Given the description of an element on the screen output the (x, y) to click on. 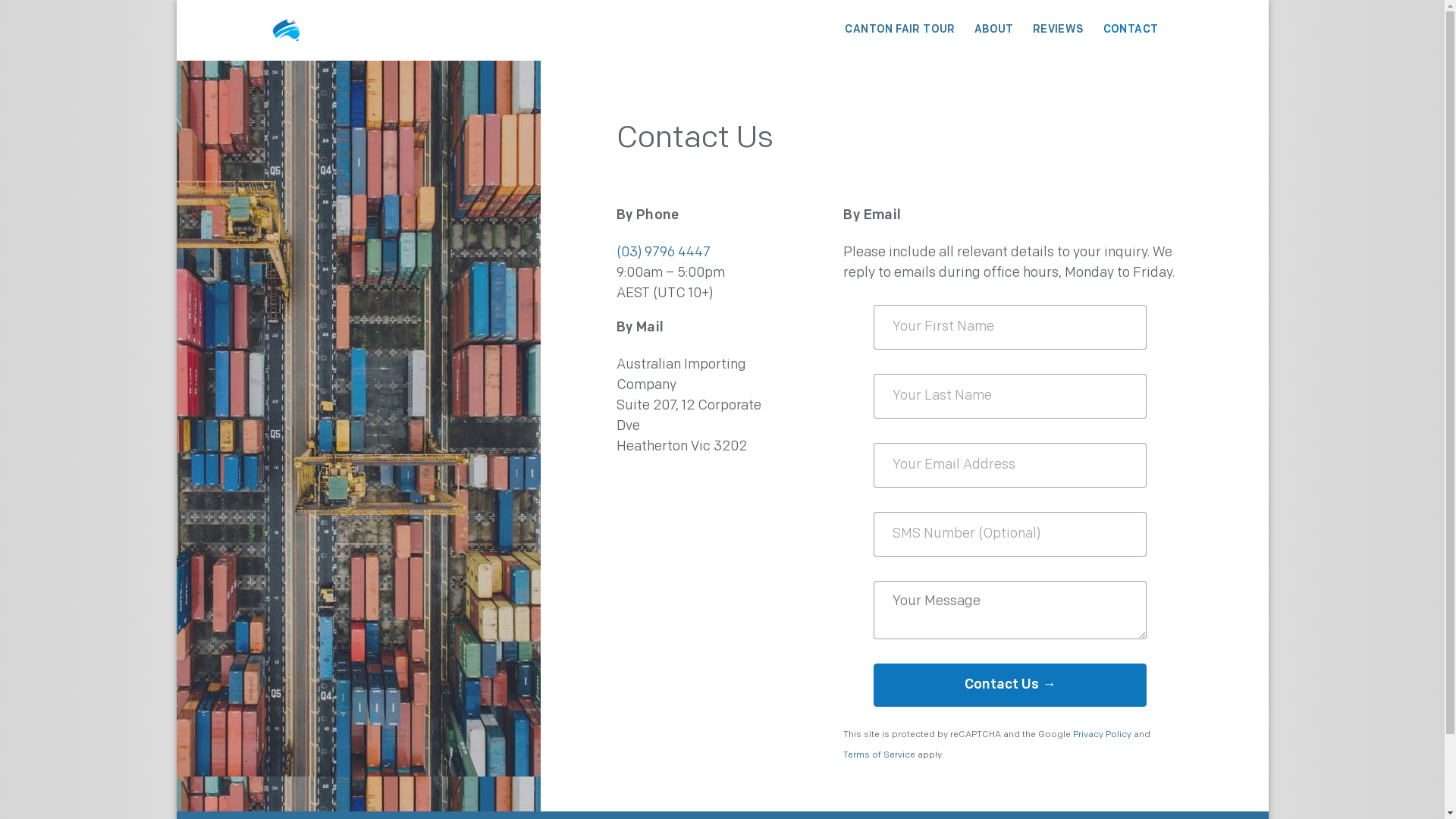
REVIEWS Element type: text (1058, 30)
ABOUT Element type: text (993, 30)
(03) 9796 4447 Element type: text (662, 252)
CANTON FAIR TOUR Element type: text (899, 30)
CONTACT Element type: text (1130, 30)
Terms of Service Element type: text (879, 754)
Privacy Policy Element type: text (1102, 734)
